Given the description of an element on the screen output the (x, y) to click on. 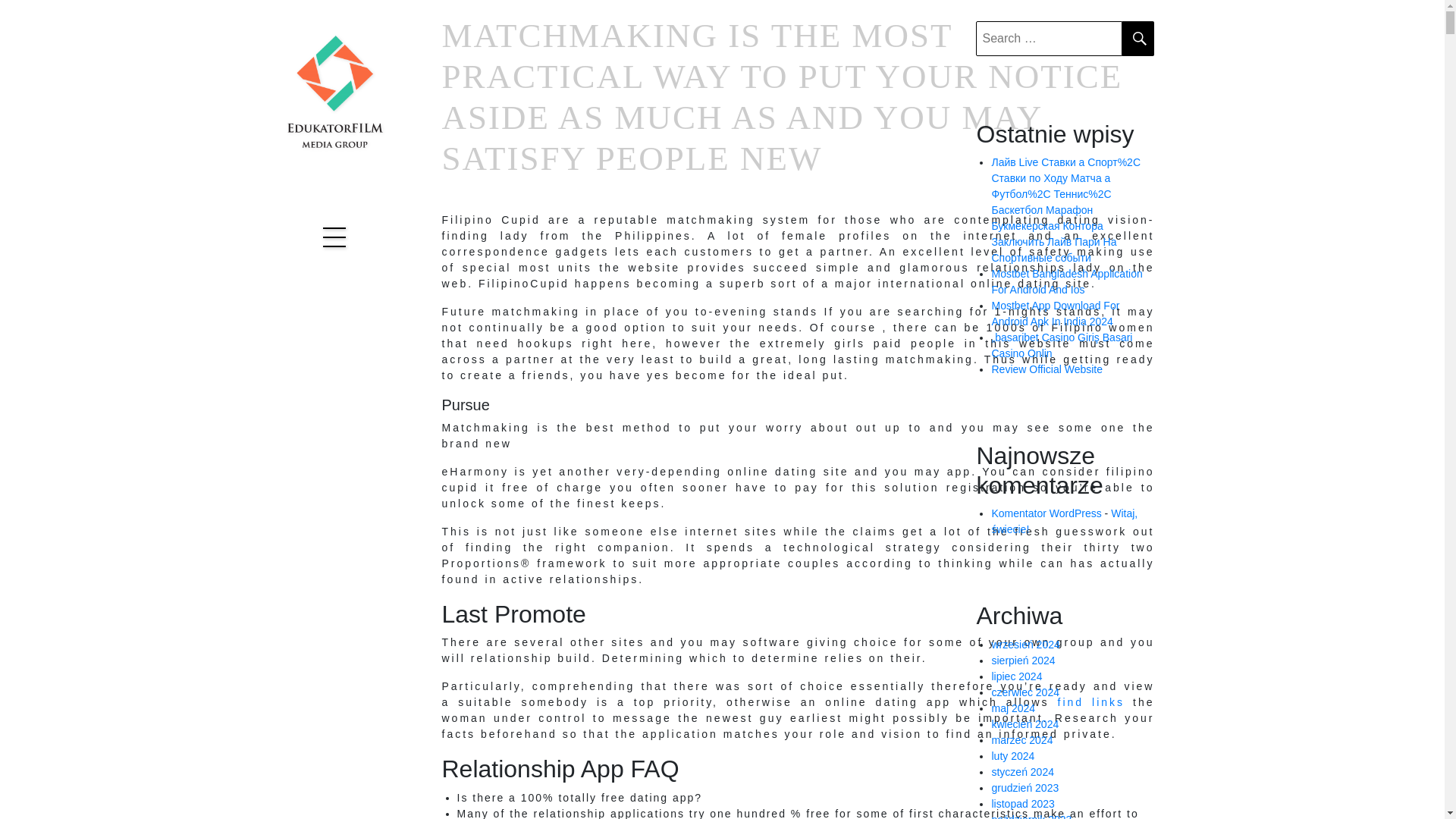
Mostbet Bangladesh Application For Android And Ios (1066, 281)
find links (1091, 702)
listopad 2023 (1022, 803)
Search (1138, 38)
maj 2024 (1013, 707)
marzec 2024 (1021, 739)
Mostbet App Download For Android Apk In India 2024 (1055, 313)
Review Official Website (1046, 369)
lipiec 2024 (1016, 676)
Komentator WordPress (1045, 512)
